Given the description of an element on the screen output the (x, y) to click on. 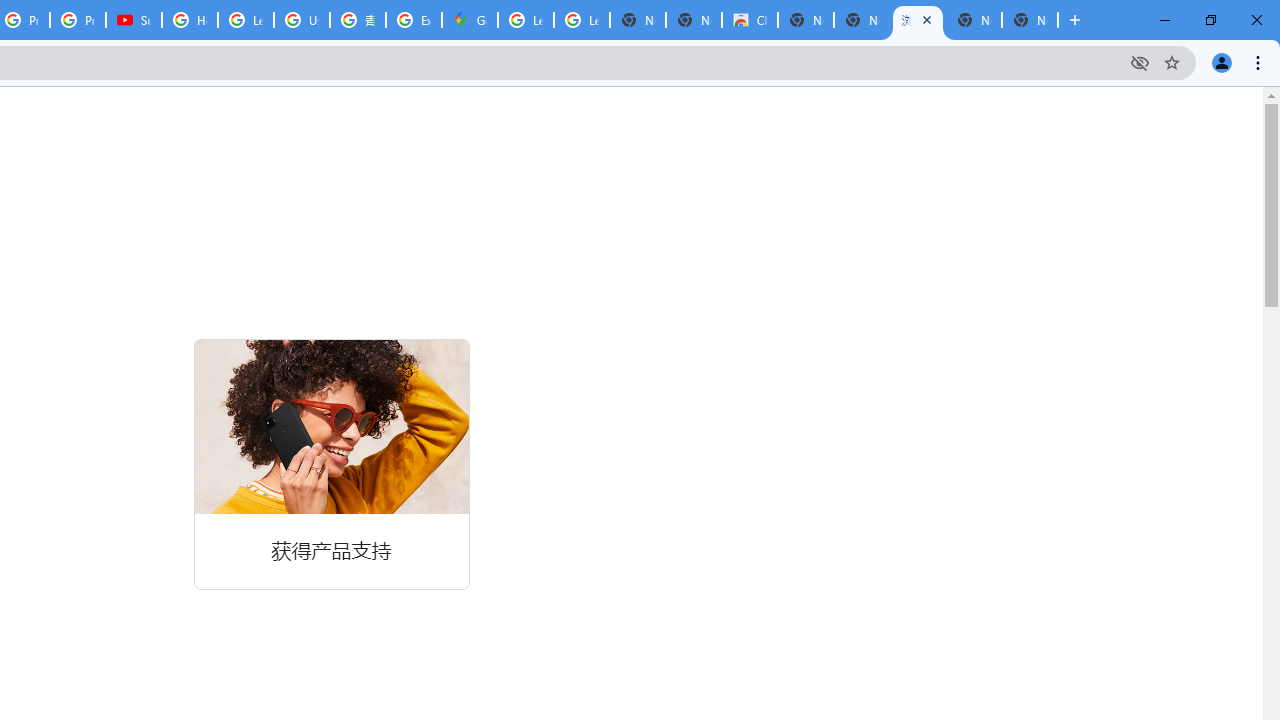
Chrome Web Store (749, 20)
New Tab (1030, 20)
Subscriptions - YouTube (134, 20)
